Given the description of an element on the screen output the (x, y) to click on. 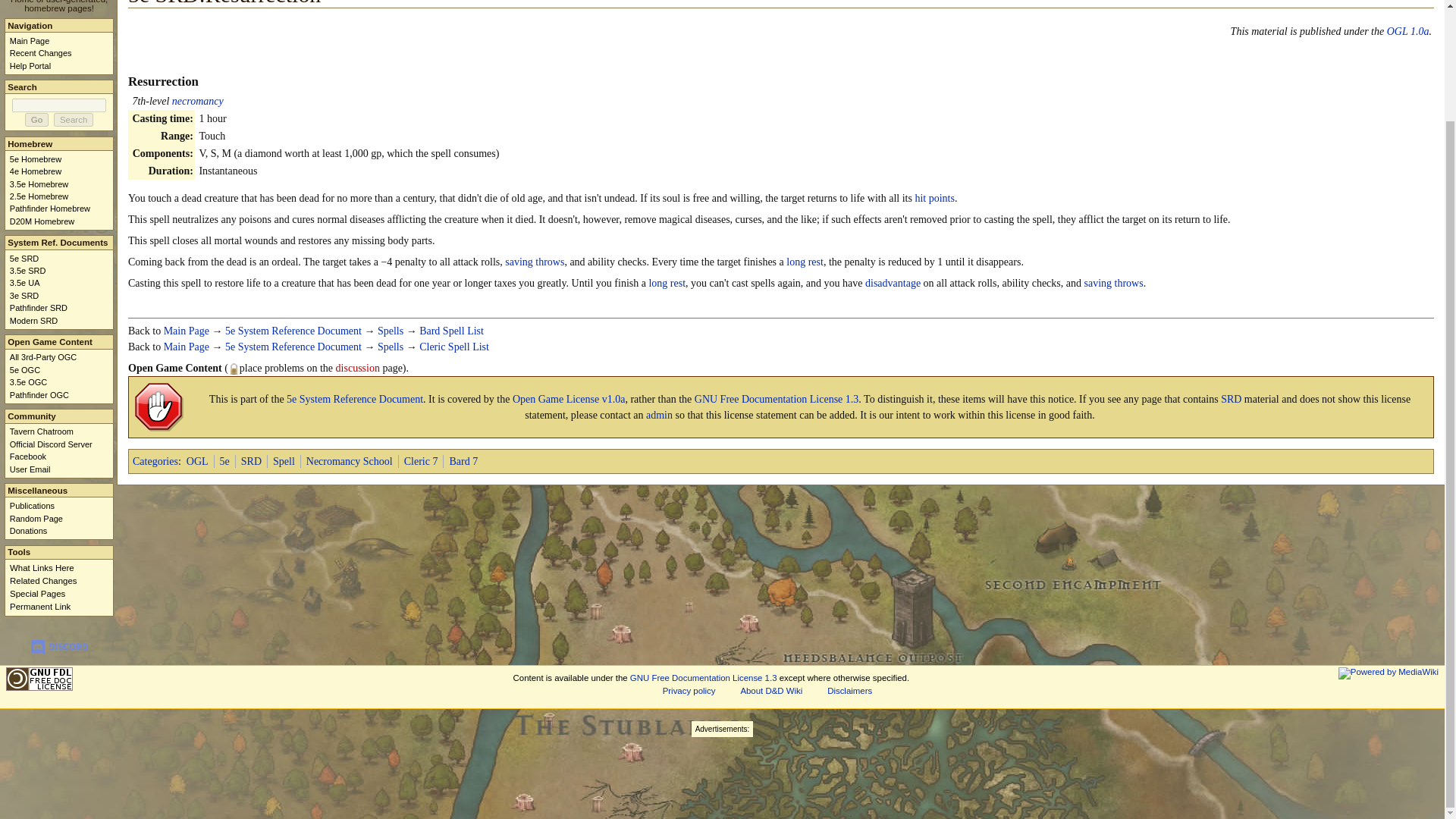
Cleric Spell List (454, 346)
5e SRD:Long Rest (805, 261)
long rest (666, 283)
Cleric 7 (421, 460)
5e SRD:Long Rest (666, 283)
5e SRD:Cleric Spell List (454, 346)
Categories (154, 460)
Spell (284, 460)
5e SRD:System Reference Document (354, 398)
necromancy (197, 101)
SRD (1231, 398)
Bard 7 (462, 460)
5e System Reference Document (293, 346)
5e SRD:System Reference Document (293, 346)
Main Page (186, 346)
